Given the description of an element on the screen output the (x, y) to click on. 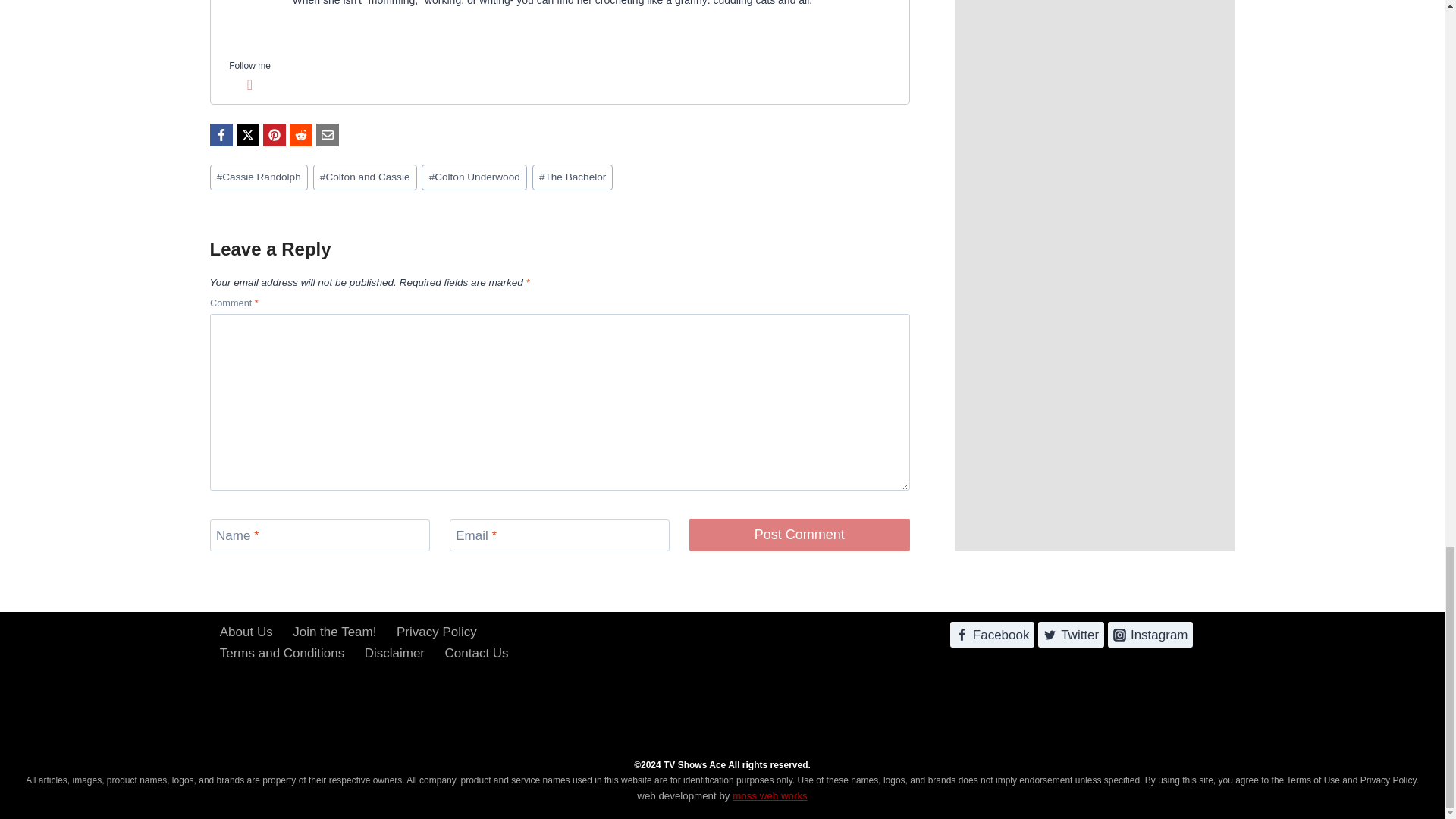
The Bachelor (572, 177)
Samantha (250, 28)
Colton Underwood (473, 177)
Cassie Randolph (258, 177)
Colton and Cassie (364, 177)
Twitter (250, 85)
Post Comment (799, 534)
